Given the description of an element on the screen output the (x, y) to click on. 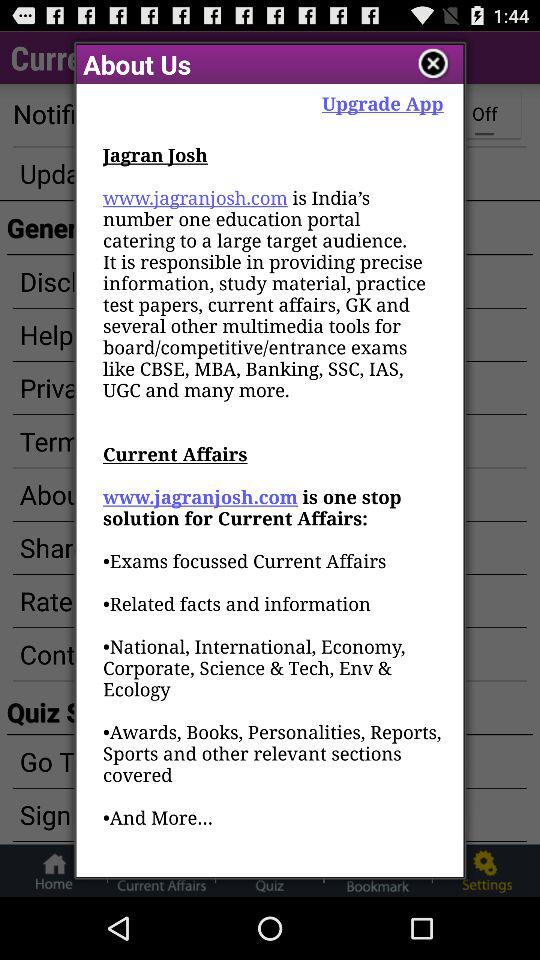
swipe to the upgrade app app (382, 102)
